Given the description of an element on the screen output the (x, y) to click on. 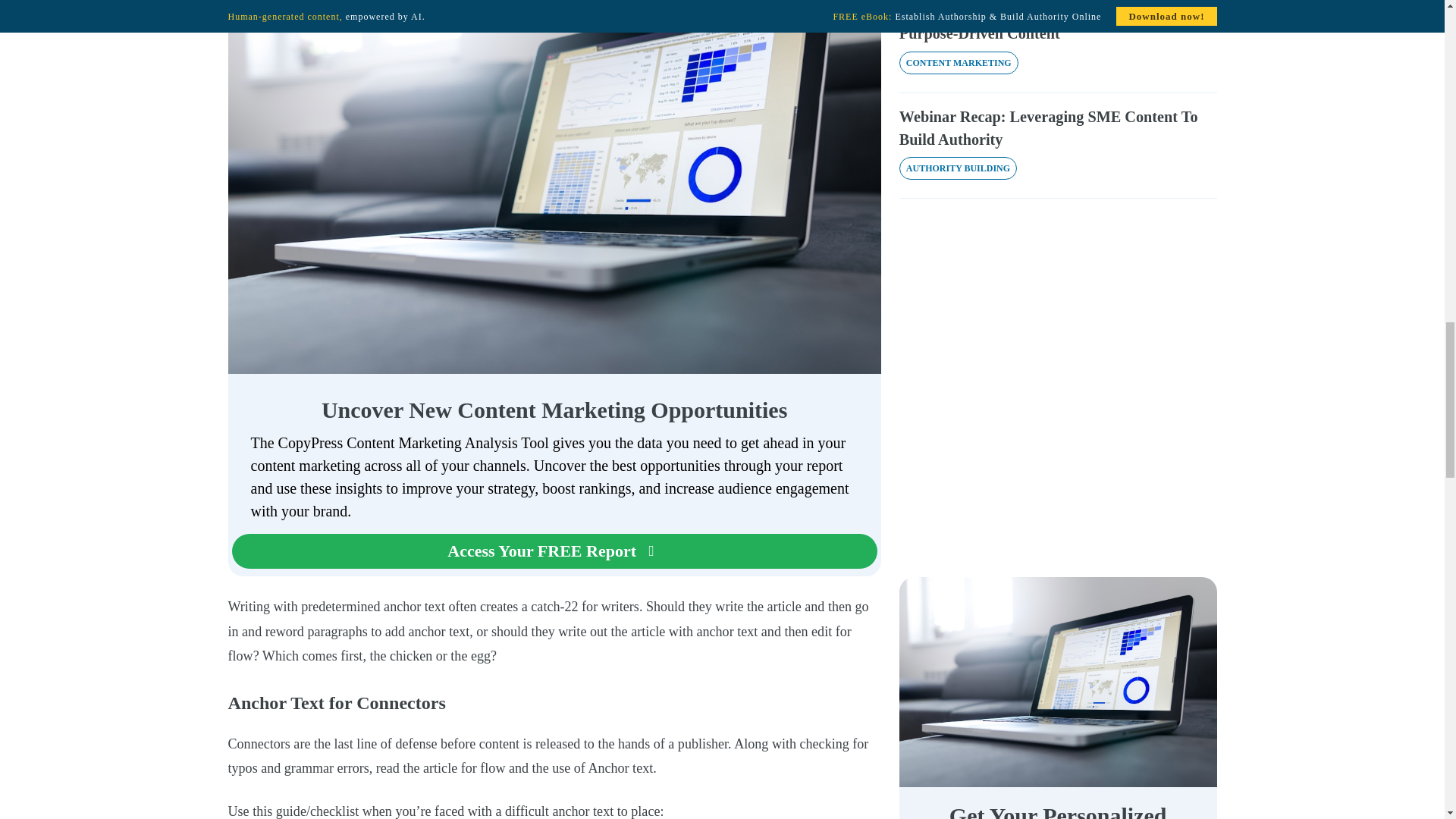
Access Your FREE Report (554, 550)
Access Your FREE Report (554, 550)
